Given the description of an element on the screen output the (x, y) to click on. 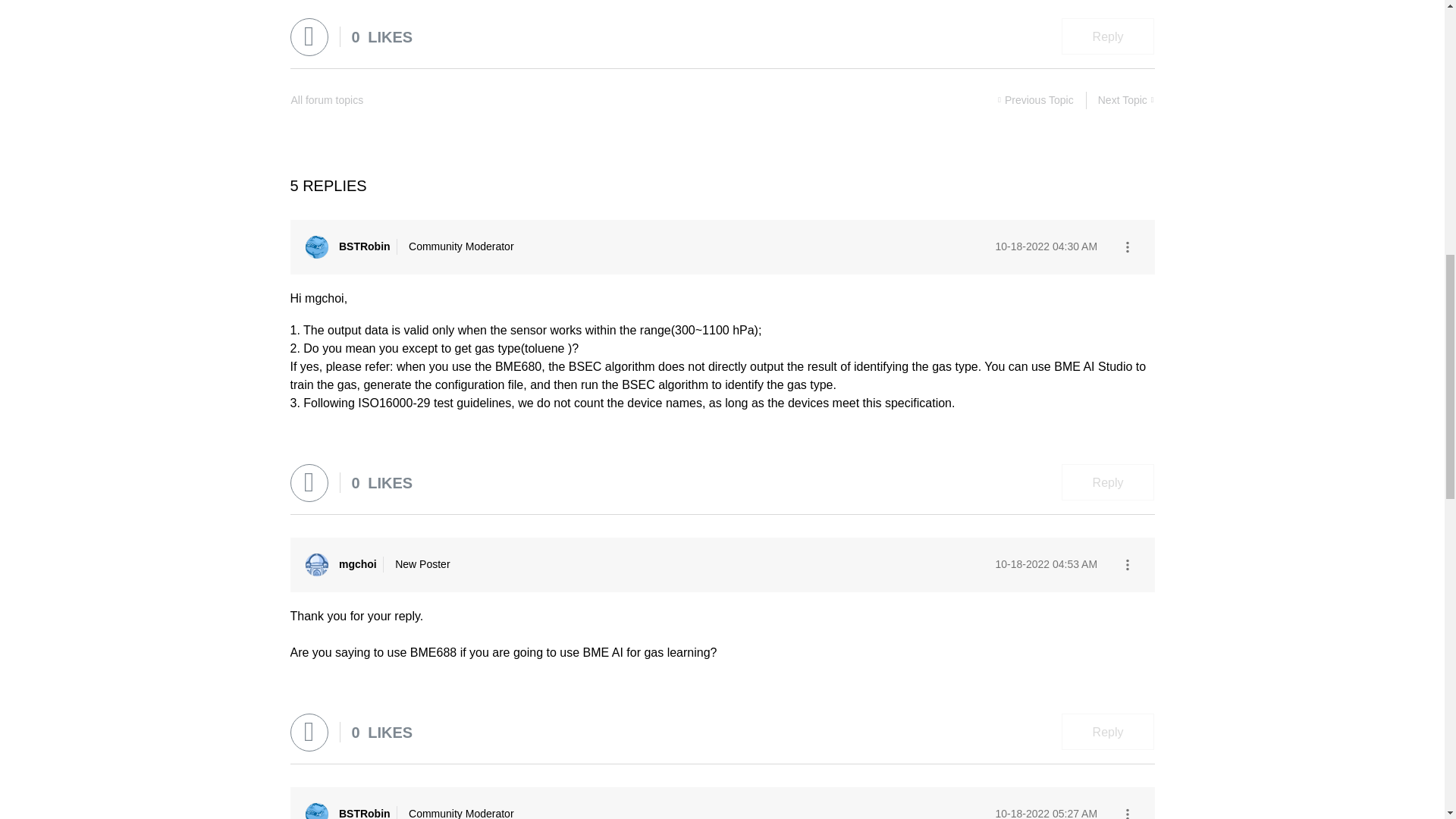
The total number of likes this post has received. (382, 36)
MEMS sensors forum (326, 99)
Click here to give likes to this post. (308, 37)
